Given the description of an element on the screen output the (x, y) to click on. 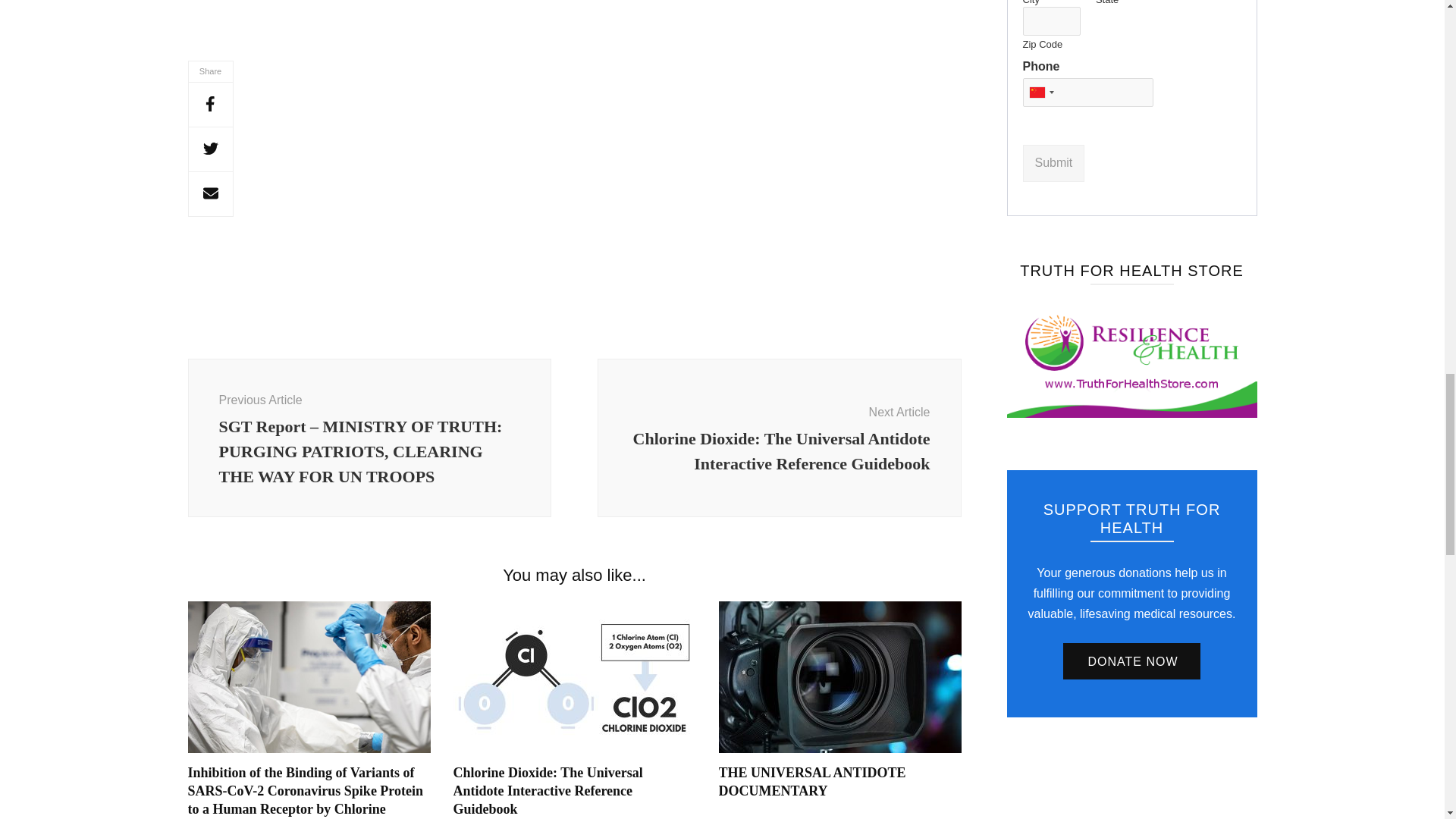
Truth For Health Store (1132, 361)
